Given the description of an element on the screen output the (x, y) to click on. 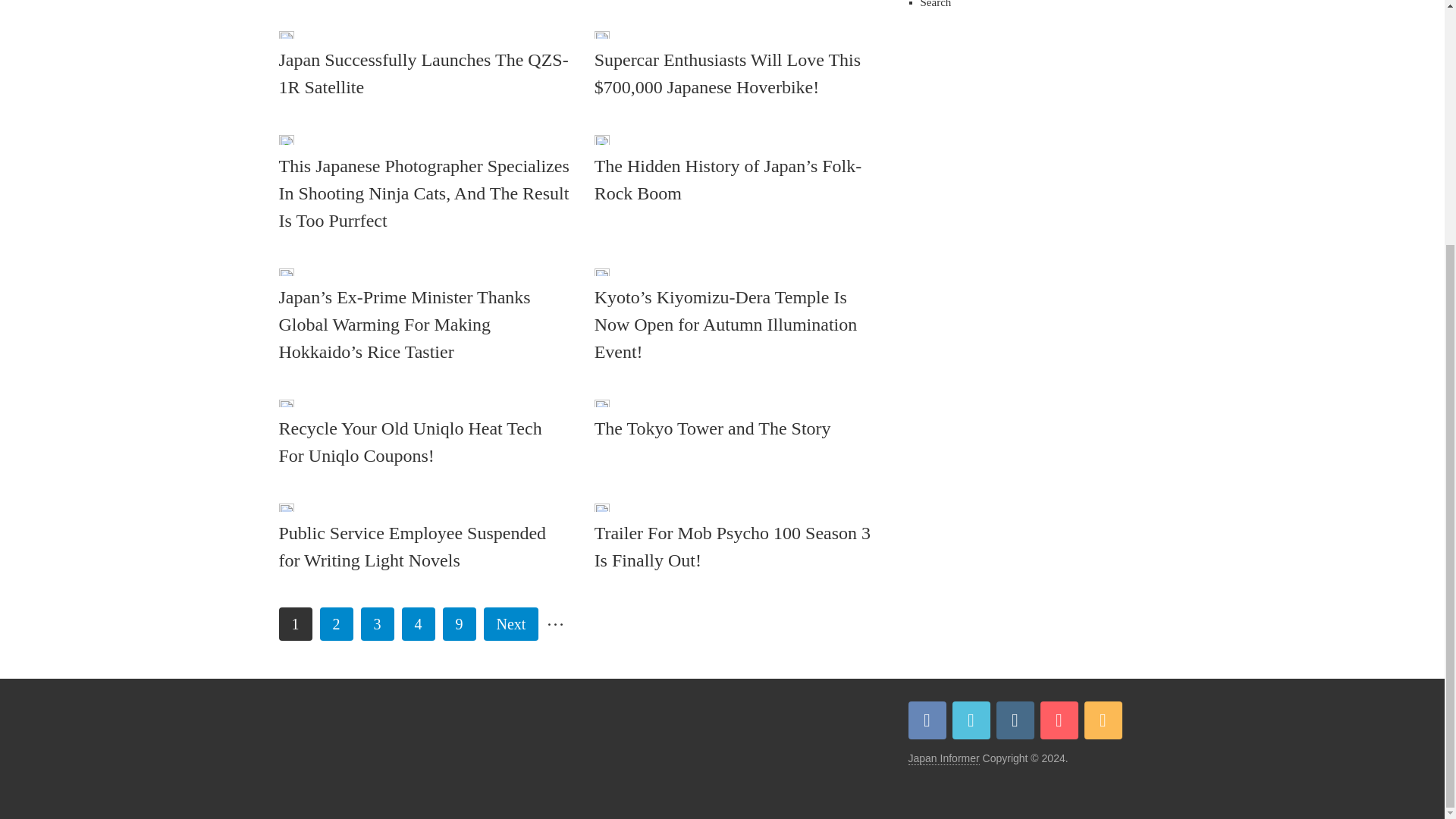
3 (377, 622)
The Tokyo Tower and The Story (739, 428)
2 (336, 622)
4 (418, 622)
Japan Successfully Launches The QZS-1R Satellite (286, 34)
Recycle Your Old Uniqlo Heat Tech For Uniqlo Coupons! (424, 441)
Japan Successfully Launches The QZS-1R Satellite (424, 72)
Trailer For Mob Psycho 100 Season 3 Is Finally Out! (739, 545)
Public Service Employee Suspended for Writing Light Novels (424, 545)
Japan Successfully Launches The QZS-1R Satellite (424, 72)
